Given the description of an element on the screen output the (x, y) to click on. 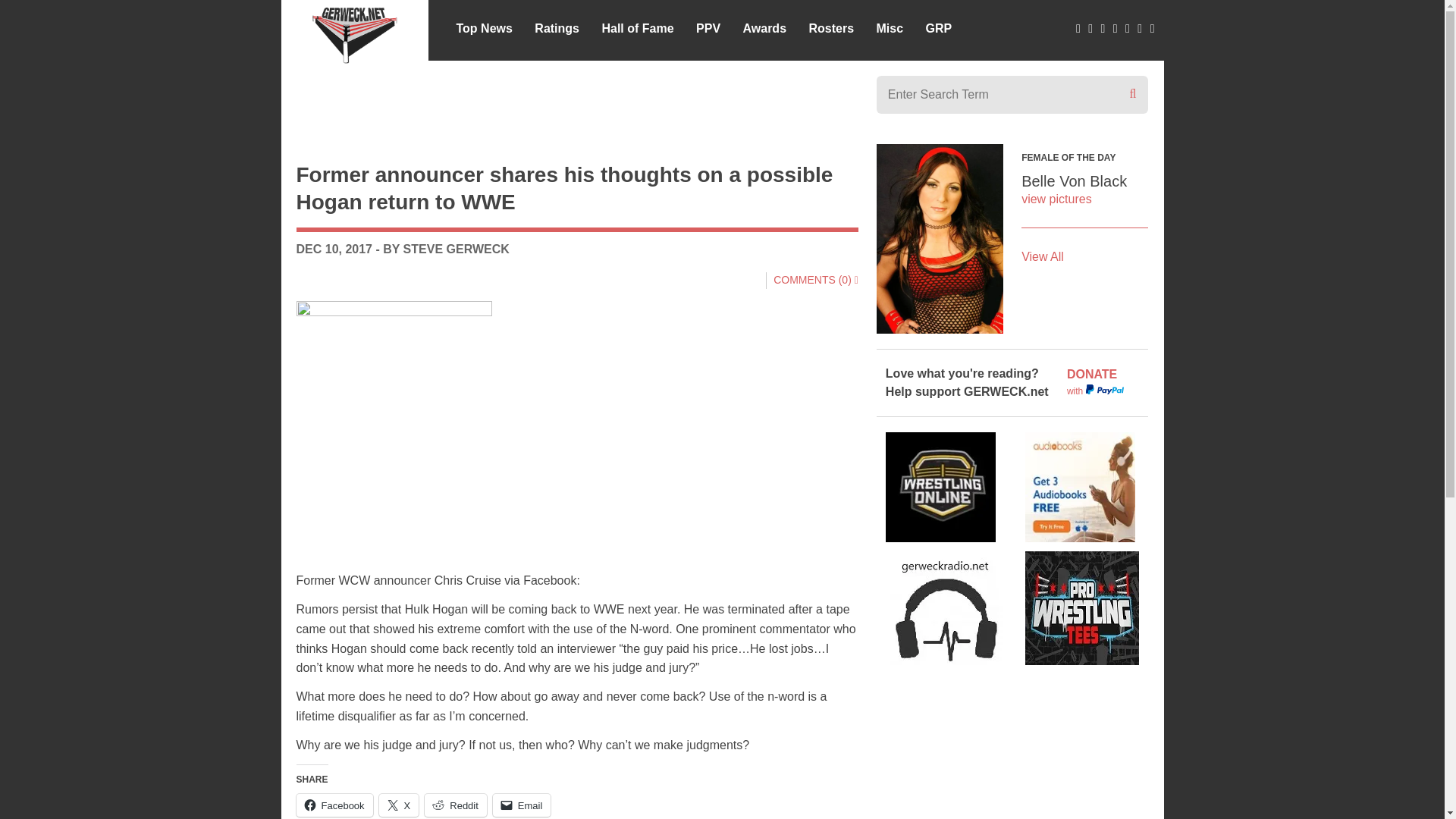
Hall of Fame (636, 28)
Click to email a link to a friend (522, 804)
Ratings (556, 28)
PPV (707, 28)
Click to share on X (398, 804)
Click to share on Facebook (333, 804)
Click to share on Reddit (455, 804)
Advertisement (1011, 754)
Advertisement (576, 98)
Gerweck.net (355, 31)
Top News (484, 28)
